Given the description of an element on the screen output the (x, y) to click on. 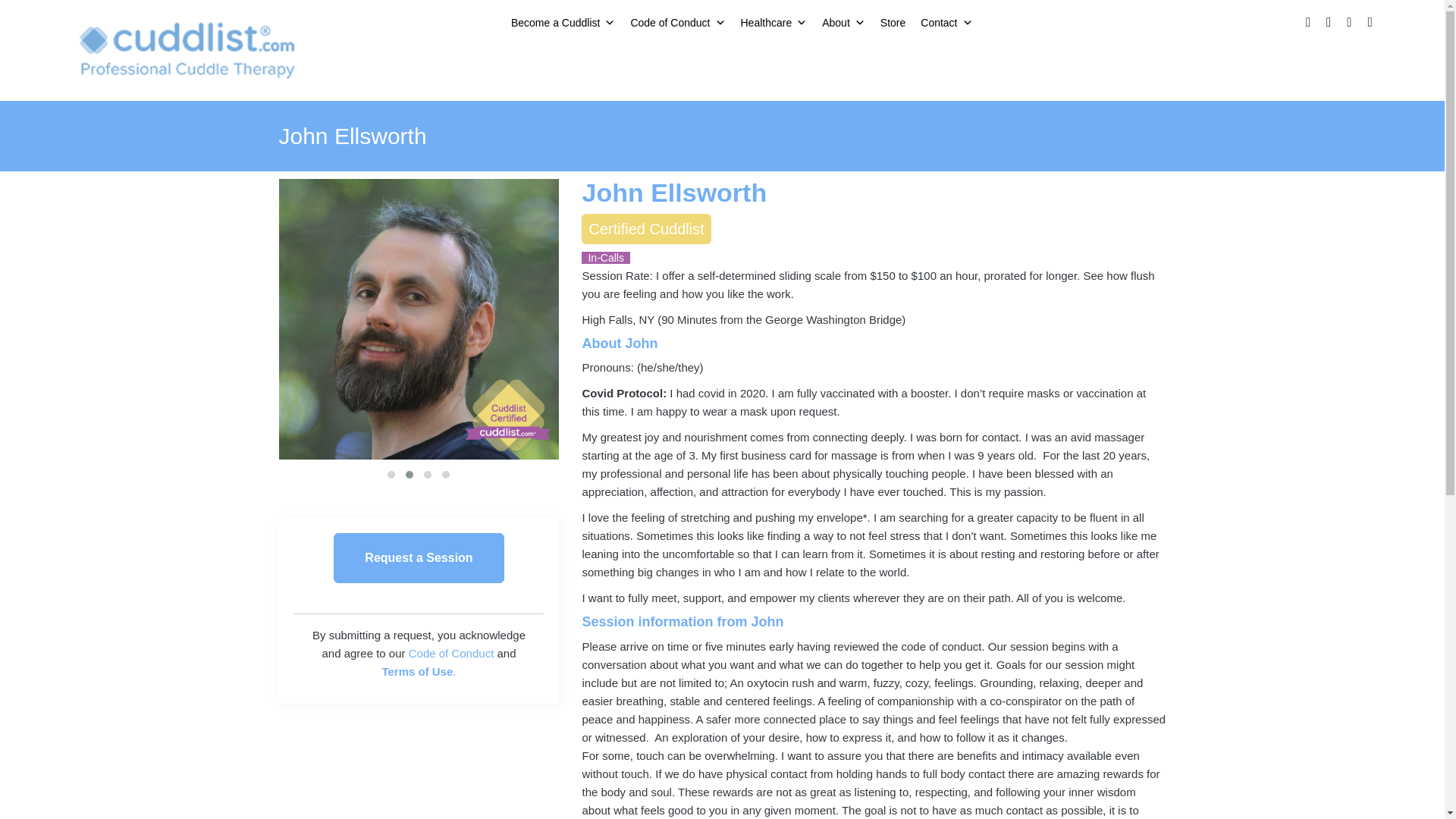
Code of Conduct (452, 653)
Professional Cuddlist, John Ellsworth (139, 319)
Contact (945, 22)
Code of Conduct (677, 22)
Cuddlist (188, 50)
Request a Session (418, 558)
John Ellsworth (673, 192)
About (842, 22)
Become a Cuddlist (563, 22)
Healthcare (772, 22)
Professional Cuddlist, John Ellsworth (419, 319)
Store (892, 22)
Cuddlist Training (188, 49)
Terms of Use. (418, 671)
